Given the description of an element on the screen output the (x, y) to click on. 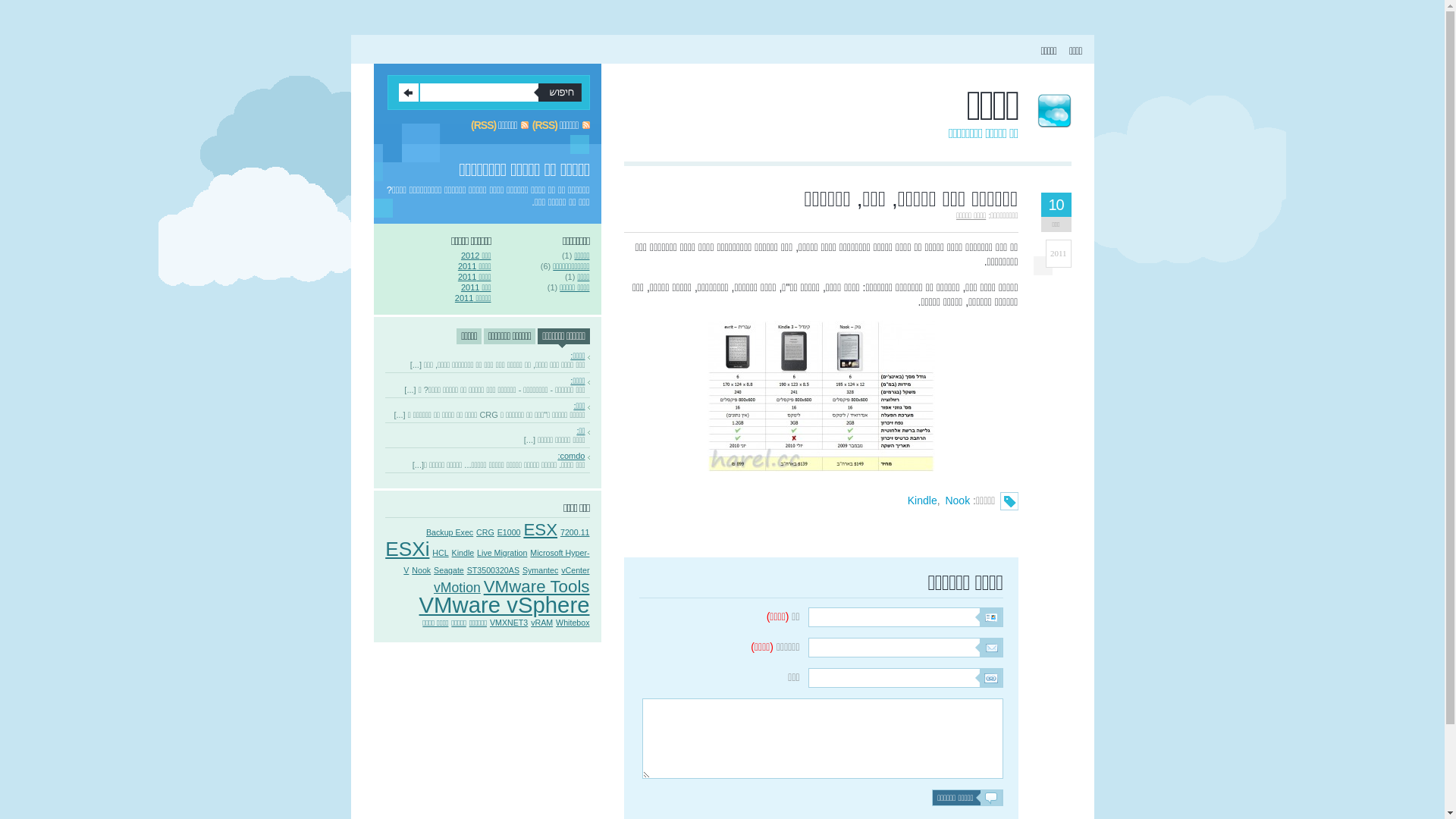
ST3500320AS Element type: text (493, 569)
Kindle Element type: text (922, 500)
Microsoft Hyper-V Element type: text (496, 561)
Seagate Element type: text (448, 569)
7200.11 Element type: text (574, 531)
Symantec Element type: text (540, 569)
Nook Element type: text (420, 569)
CRG Element type: text (485, 531)
vCenter Element type: text (575, 569)
ESXi Element type: text (407, 548)
Kindle Element type: text (462, 552)
HCL Element type: text (440, 552)
Nook Element type: text (956, 500)
comdo: Element type: text (485, 455)
VMware Tools Element type: text (536, 586)
Live Migration Element type: text (501, 552)
vRAM Element type: text (541, 622)
VMware vSphere Element type: text (504, 604)
VMXNET3 Element type: text (508, 622)
ESX Element type: text (540, 529)
Search Element type: text (408, 92)
vMotion Element type: text (456, 587)
Whitebox Element type: text (572, 622)
E1000 Element type: text (508, 531)
Backup Exec Element type: text (449, 531)
ebookcompare Element type: hover (820, 395)
